Given the description of an element on the screen output the (x, y) to click on. 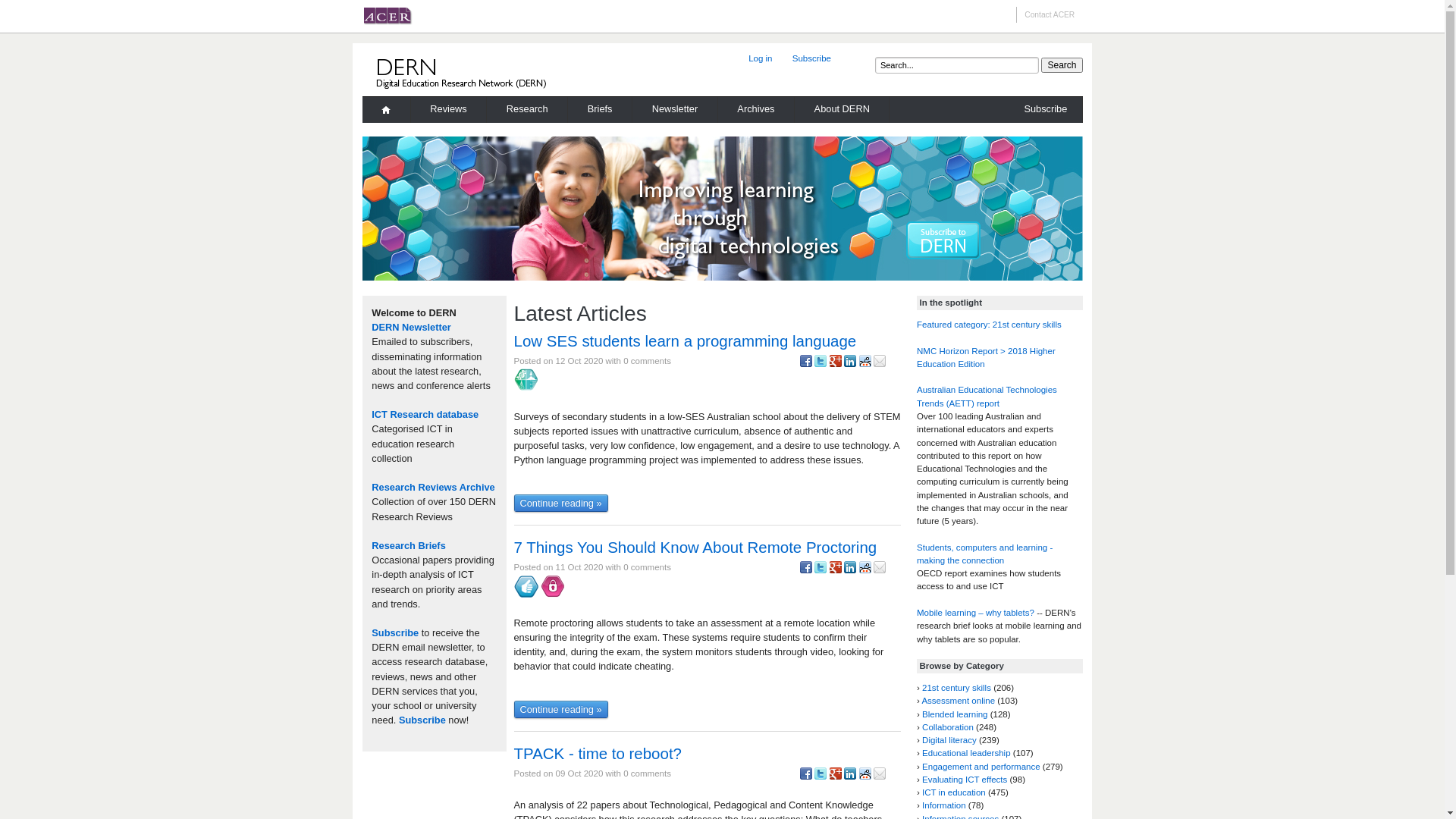
Collaboration Element type: text (947, 726)
Research Reviews Archive Element type: text (432, 486)
Facebook Element type: hover (805, 363)
Research Briefs Element type: text (408, 545)
Research Element type: text (526, 110)
Subscribe Element type: text (811, 57)
Privacy Element type: hover (552, 586)
Facebook Element type: hover (805, 775)
Students, computers and learning - making the connection Element type: text (984, 553)
Google+ Element type: hover (835, 363)
Subscribe Element type: text (1043, 110)
Google+ Element type: hover (835, 775)
LinkedIn Element type: hover (850, 775)
Assessment online Element type: hover (526, 586)
LinkedIn Element type: hover (850, 569)
NMC Horizon Report > 2018 Higher Education Edition Element type: text (985, 357)
Evaluating ICT effects Element type: text (964, 779)
Digital literacy Element type: text (949, 739)
Featured category: 21st century skills Element type: text (988, 324)
Newsletter Element type: text (675, 110)
E-mail Element type: hover (879, 363)
ICT in education Element type: text (953, 792)
Reddit Element type: hover (865, 775)
E-mail Element type: hover (879, 775)
Facebook Element type: hover (805, 569)
E-mail Element type: hover (879, 569)
About DERN Element type: text (841, 110)
STEM education Element type: hover (526, 379)
Search Element type: text (1061, 64)
TPACK - time to reboot? Element type: text (597, 753)
Low SES students learn a programming language Element type: text (685, 340)
Twitter Element type: hover (820, 569)
21st century skills Element type: text (956, 687)
Twitter Element type: hover (820, 363)
Subscribe Element type: text (394, 632)
LinkedIn Element type: hover (850, 363)
Google+ Element type: hover (835, 569)
Reddit Element type: hover (865, 569)
Subscribe Element type: text (421, 719)
Twitter Element type: hover (820, 775)
ICT Research database Element type: text (424, 414)
Engagement and performance Element type: text (981, 766)
Educational leadership Element type: text (966, 752)
Australian Educational Technologies Trends (AETT) report Element type: text (986, 396)
Assessment online Element type: text (957, 700)
DERN Newsletter Element type: text (411, 326)
Contact ACER Element type: text (1049, 14)
Information Element type: text (944, 804)
7 Things You Should Know About Remote Proctoring Element type: text (695, 546)
Archives Element type: text (756, 110)
Blended learning Element type: text (954, 713)
Reviews Element type: text (449, 110)
Briefs Element type: text (599, 110)
Reddit Element type: hover (865, 363)
Log in Element type: text (760, 57)
